Given the description of an element on the screen output the (x, y) to click on. 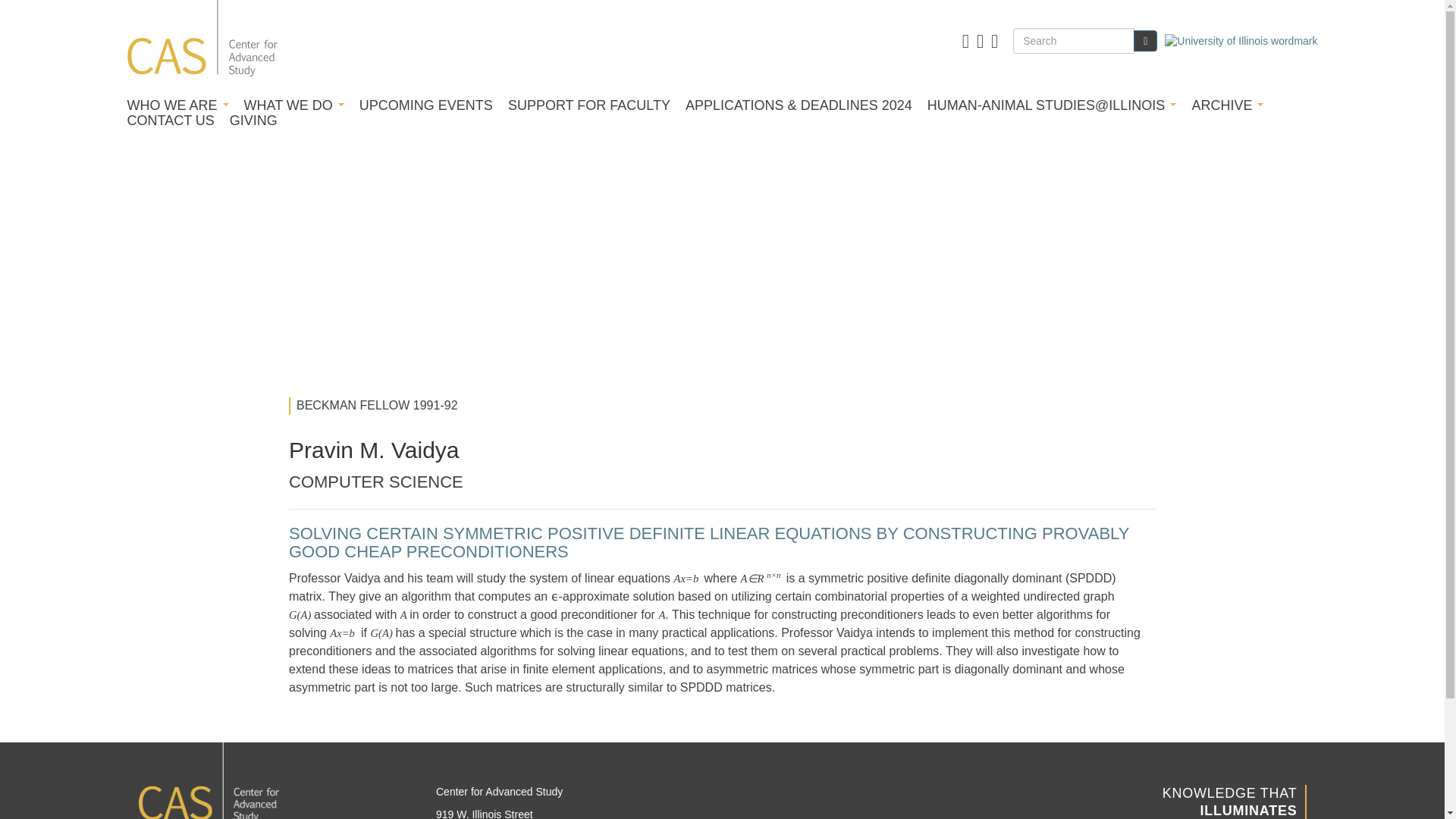
SUPPORT FOR FACULTY (588, 105)
UPCOMING EVENTS (426, 105)
WHO WE ARE (178, 105)
Home (203, 40)
ARCHIVE (1227, 105)
WHAT WE DO (293, 105)
Enter the terms you wish to search for. (1073, 40)
Search (1145, 40)
